Given the description of an element on the screen output the (x, y) to click on. 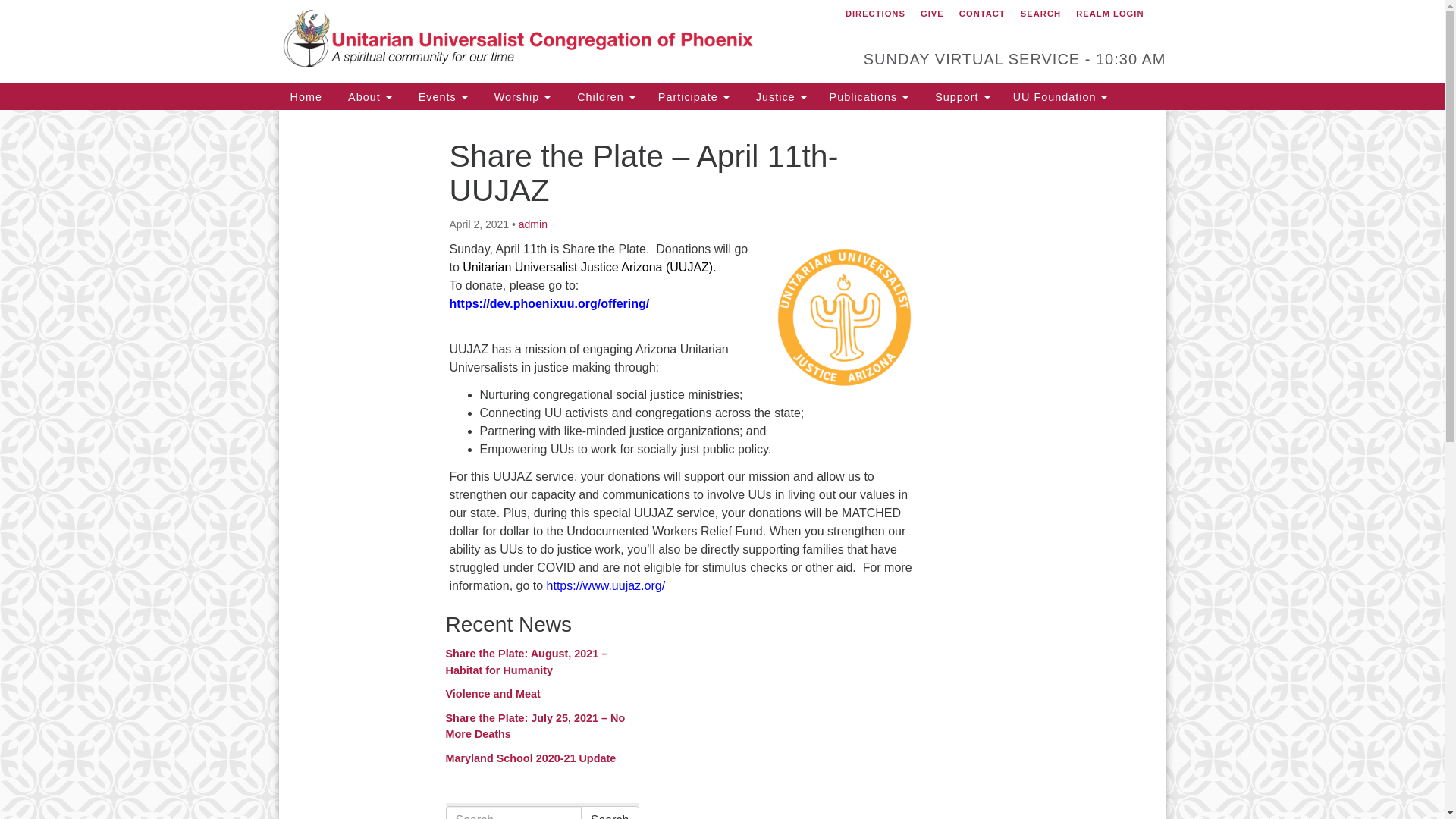
Home (306, 96)
DIRECTIONS (875, 13)
 Events (441, 96)
 Worship (520, 96)
CONTACT (981, 13)
 About (368, 96)
SEARCH (1039, 13)
YOUTUBE (1163, 11)
REALM LOGIN (1109, 13)
Home (306, 96)
GIVE (932, 13)
About (368, 96)
